Given the description of an element on the screen output the (x, y) to click on. 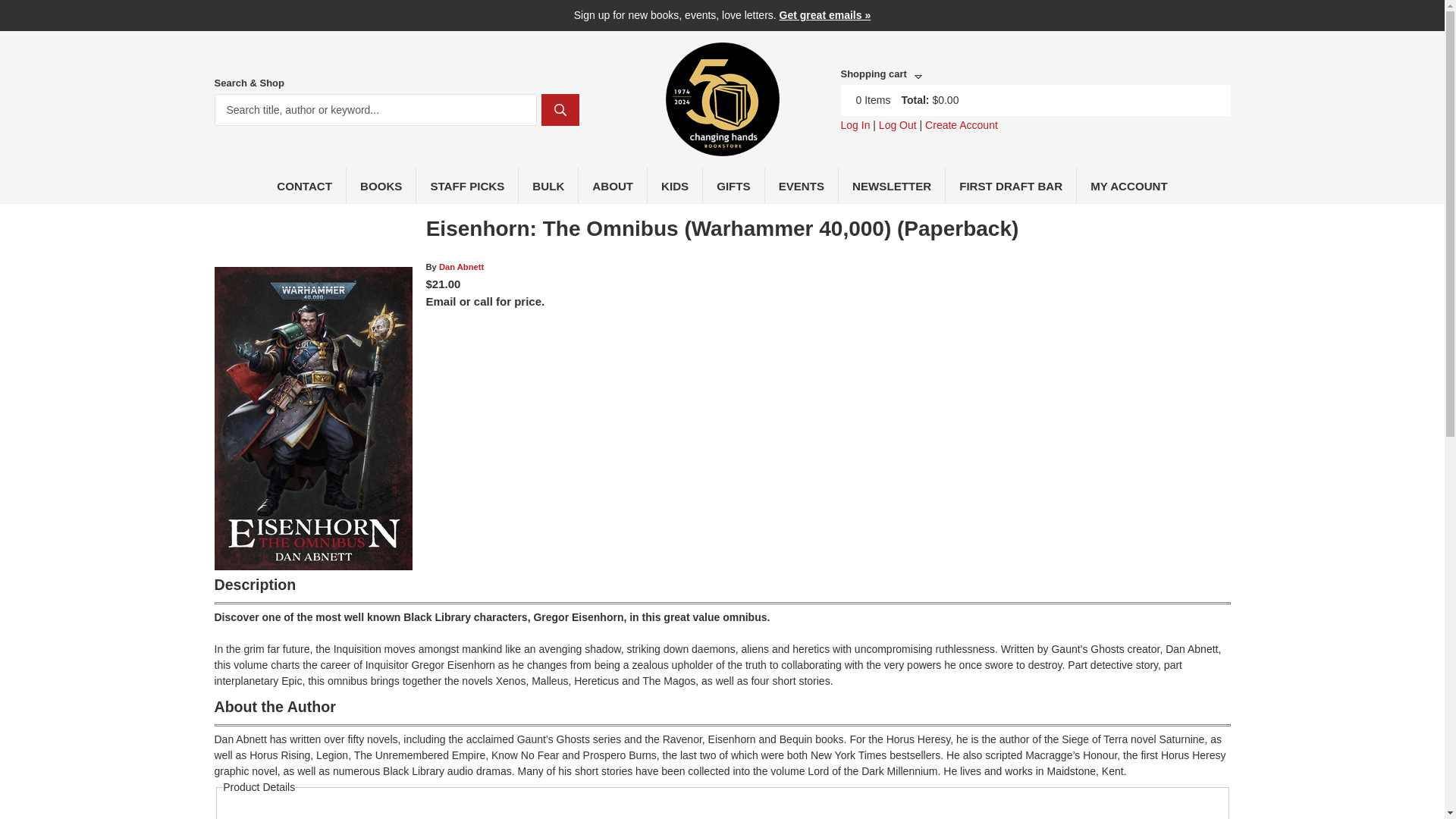
CONTACT (304, 185)
BULK (548, 185)
BOOKS (381, 185)
Log In (854, 124)
ABOUT (612, 185)
Create Account (960, 124)
STAFF PICKS (467, 185)
Log Out (898, 124)
Search (560, 110)
Search (560, 110)
Home page (721, 147)
Search title, author or keyword... (374, 110)
